Given the description of an element on the screen output the (x, y) to click on. 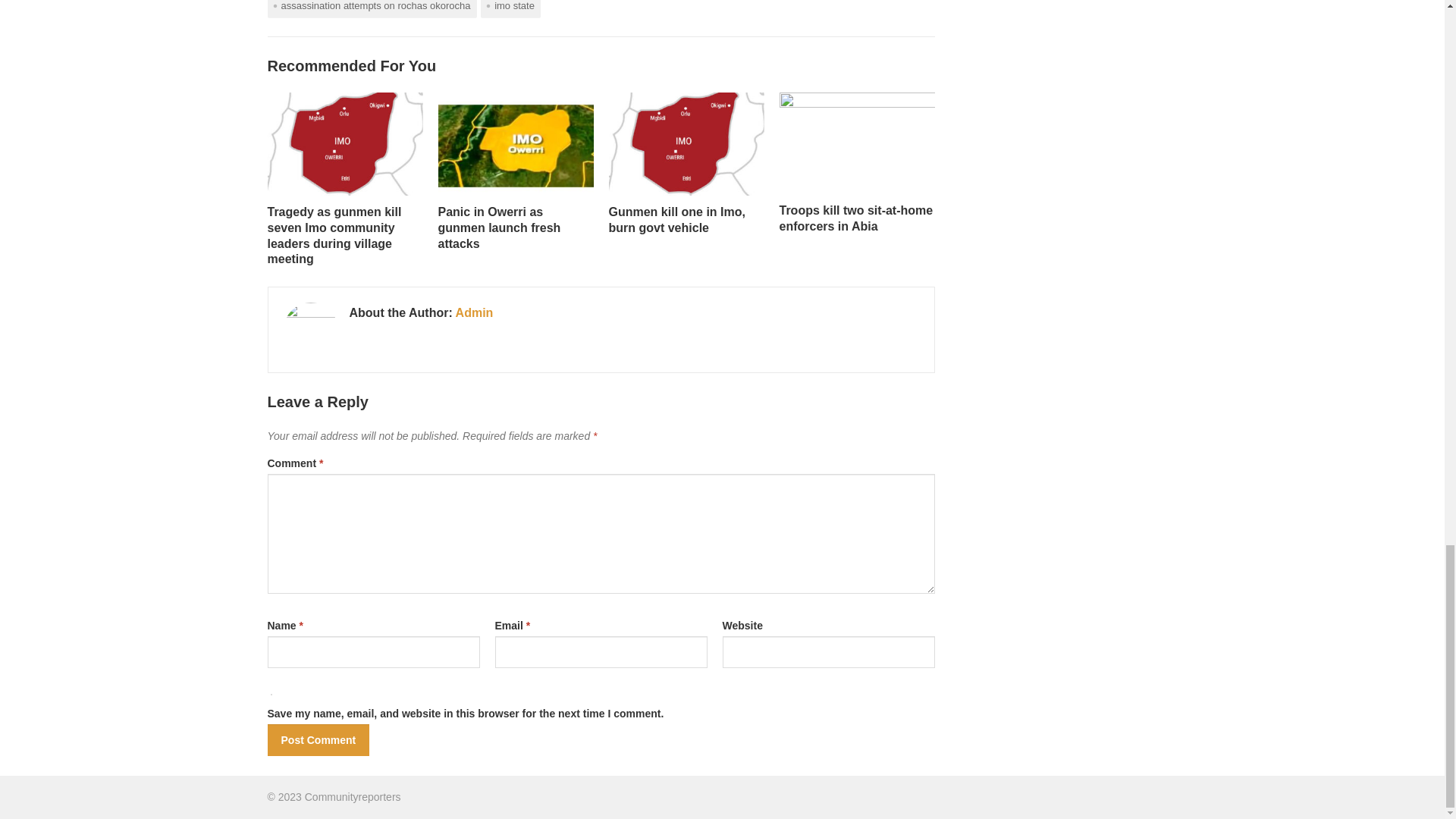
Post Comment (317, 739)
